Given the description of an element on the screen output the (x, y) to click on. 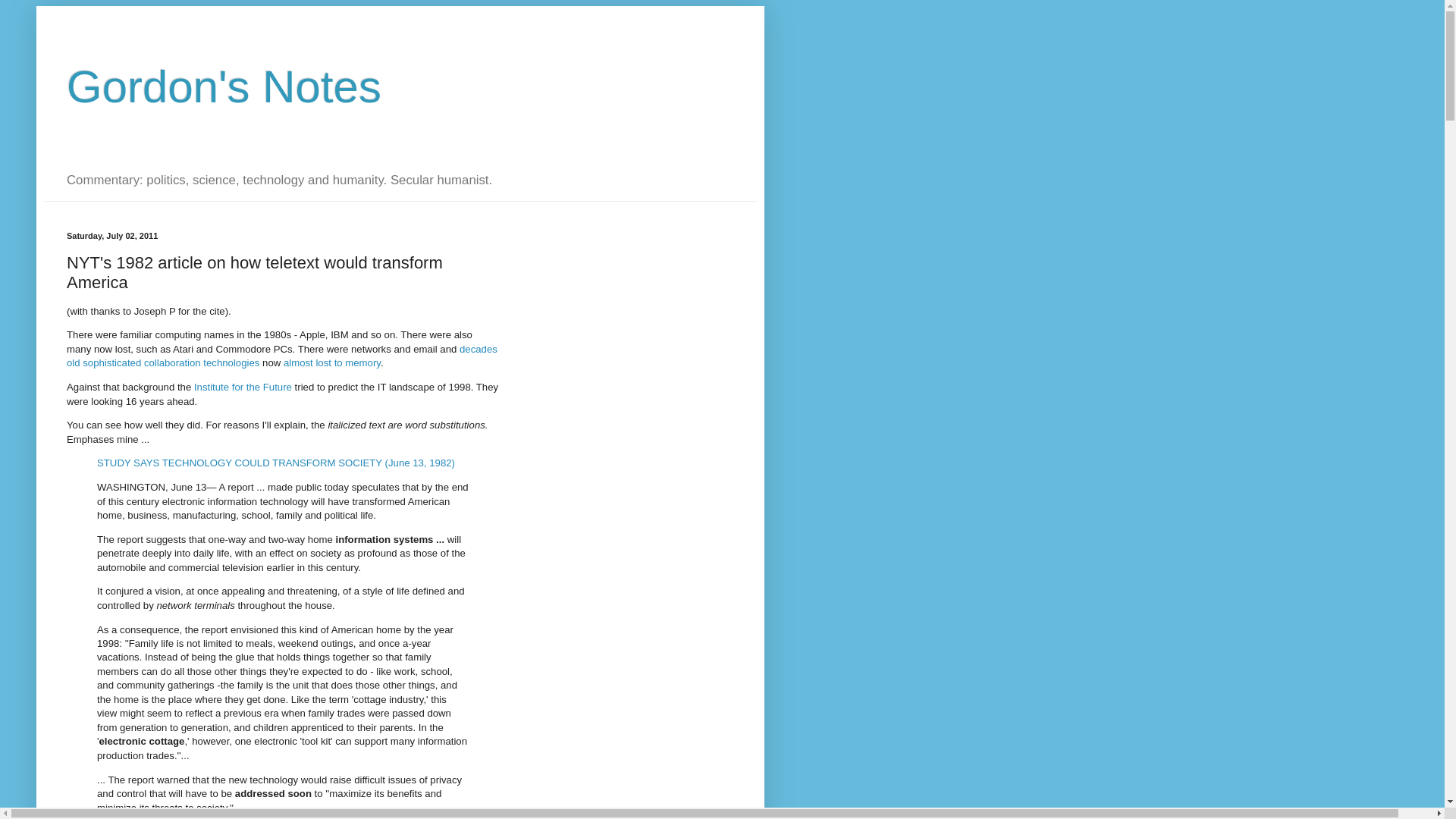
Institute for the Future (242, 387)
decades old sophisticated collaboration technologies (281, 355)
Gordon's Notes (223, 86)
almost lost to memory (331, 362)
